Given the description of an element on the screen output the (x, y) to click on. 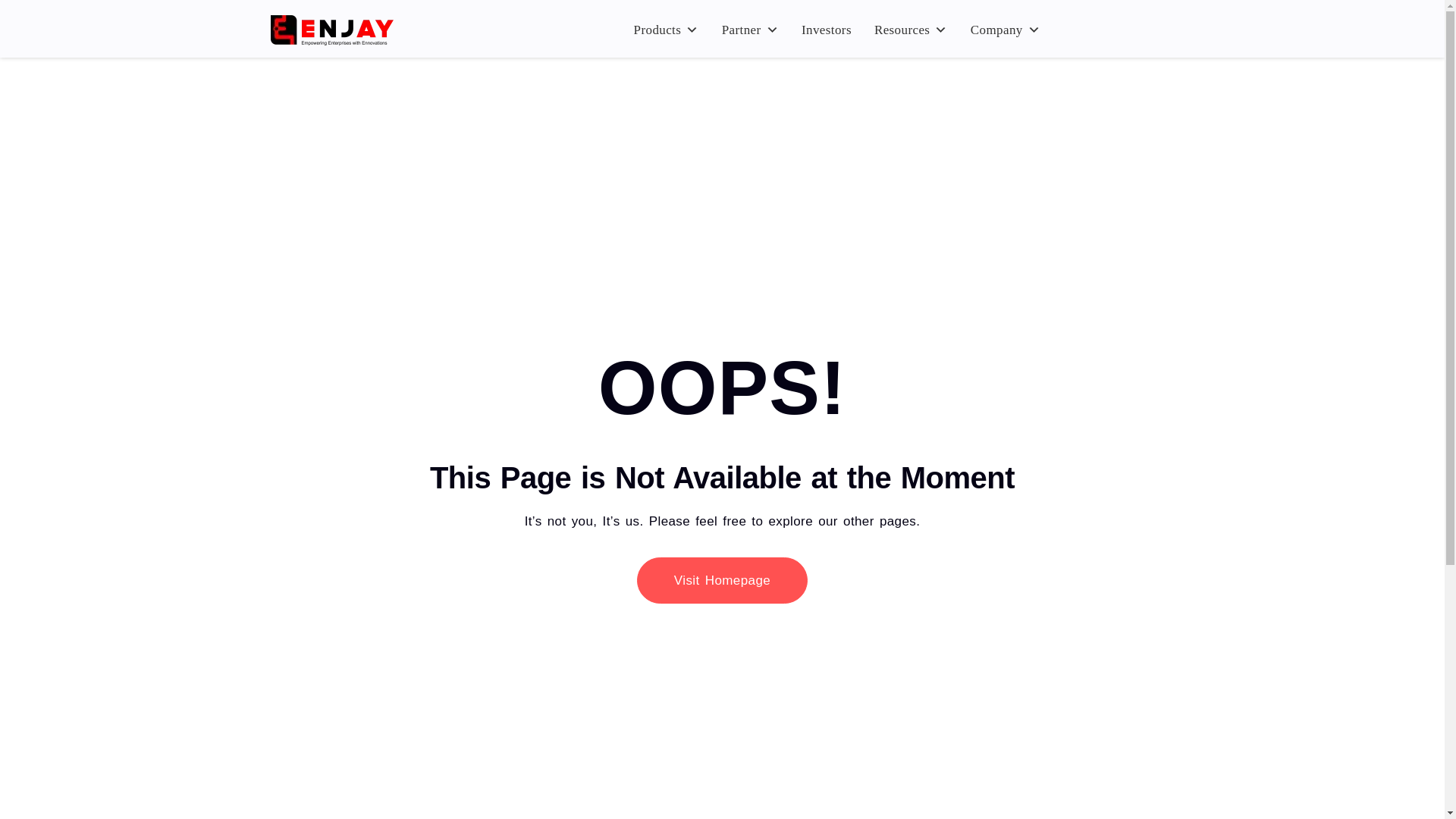
Company (1005, 30)
Resources (910, 30)
Products (666, 30)
Investors (826, 30)
Partner (750, 30)
